Given the description of an element on the screen output the (x, y) to click on. 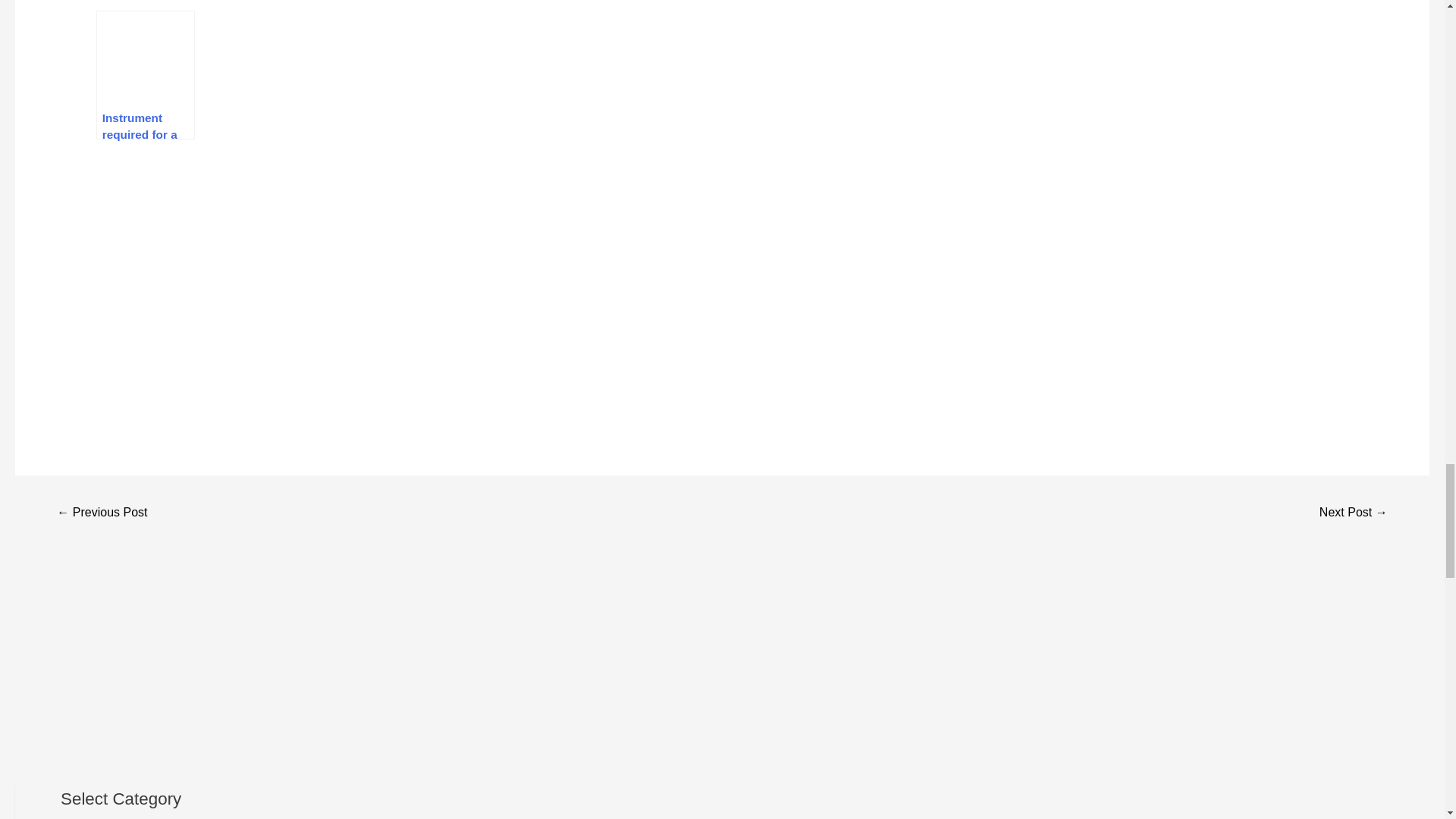
Instrument required for a successful energy audit (145, 74)
